Given the description of an element on the screen output the (x, y) to click on. 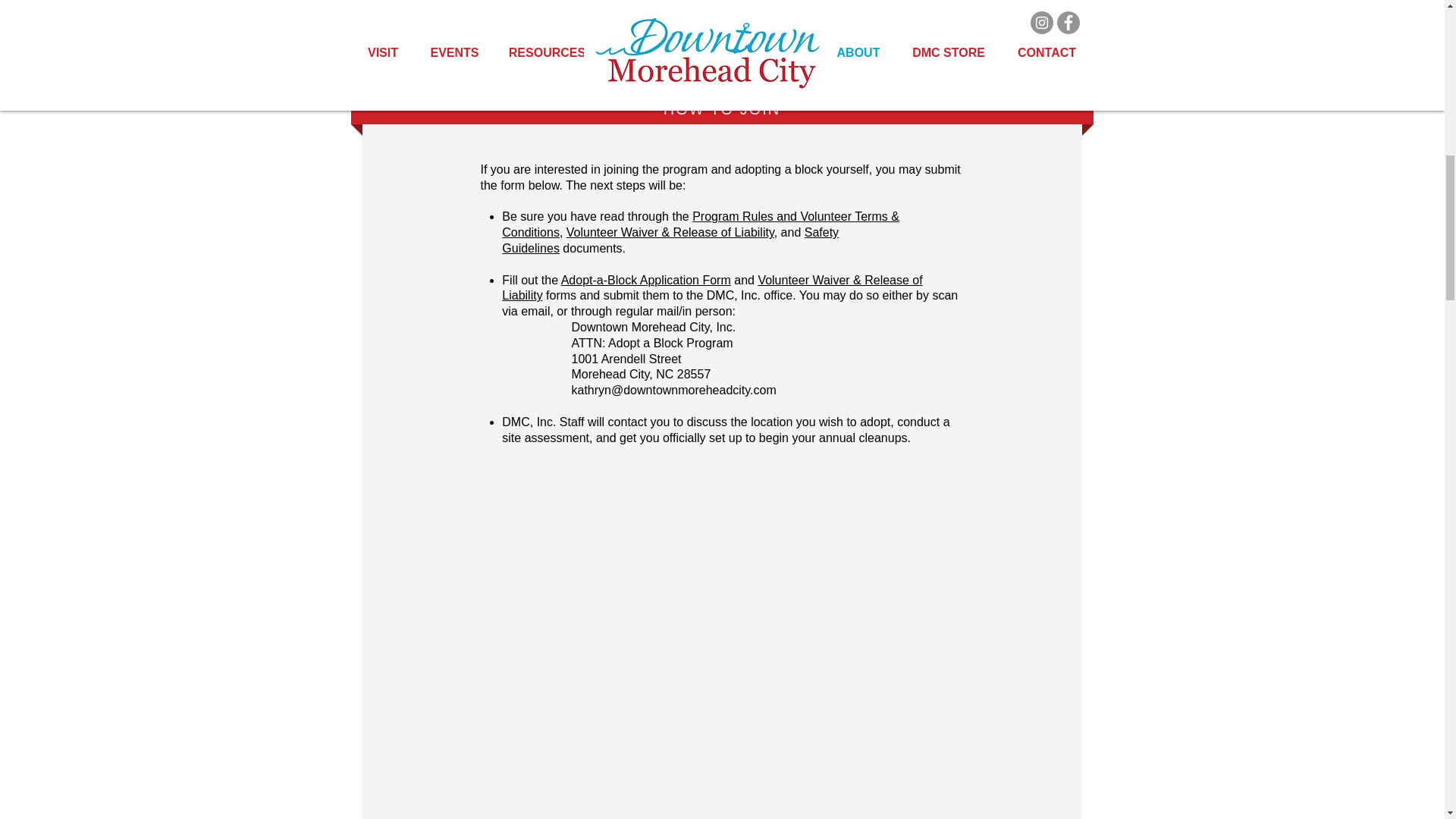
Roadside Clean Up Release (809, 12)
Adopt-a-Block Application Form (645, 279)
Supplies Check-Out Form (457, 12)
Safety Guidelines (633, 12)
Safety Guidelines (670, 240)
Photography Release (987, 12)
